Given the description of an element on the screen output the (x, y) to click on. 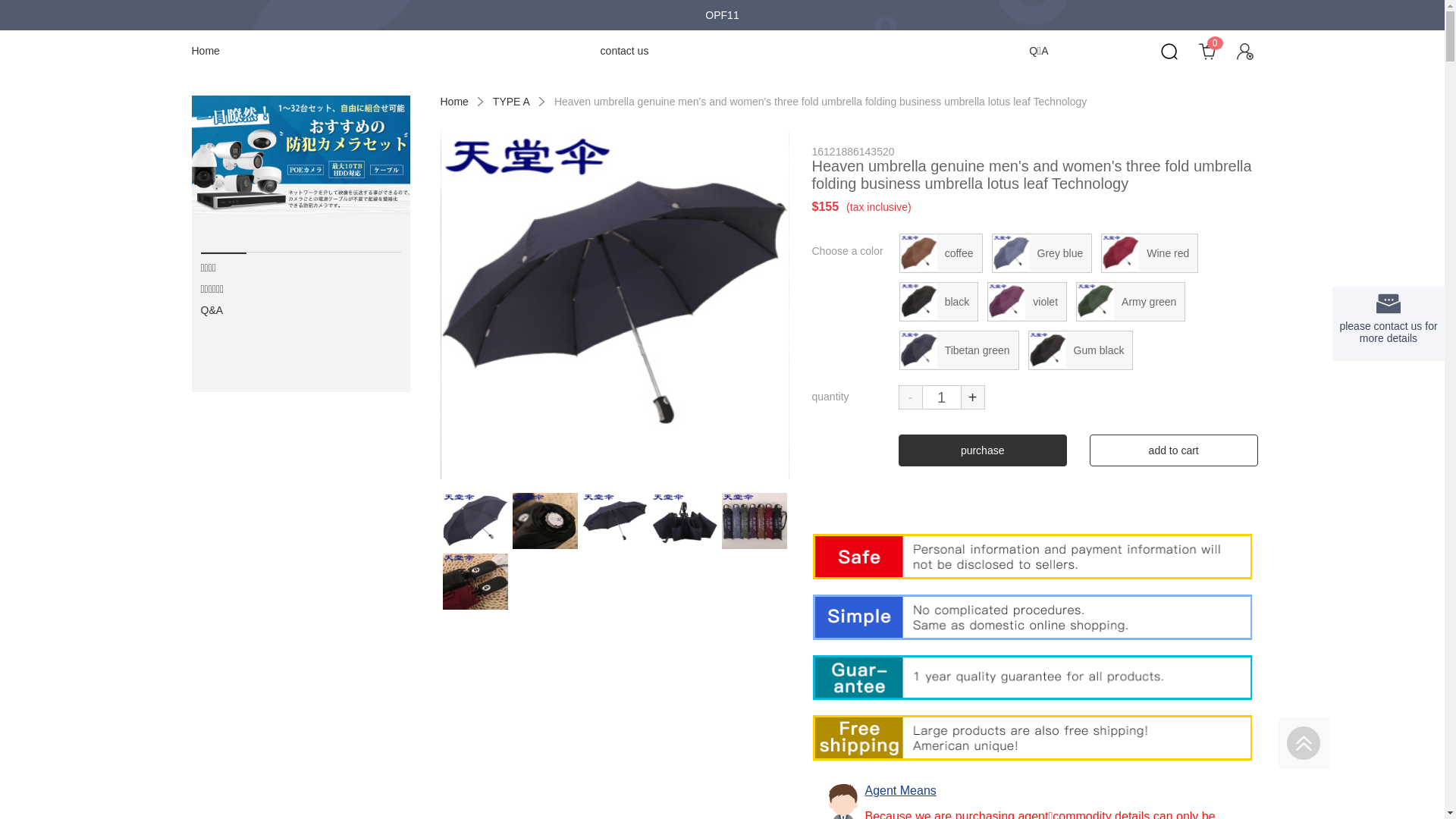
0 Element type: text (1199, 50)
Q&A Element type: text (300, 310)
TYPE A Element type: text (511, 101)
Agent Means Element type: text (899, 790)
Home Element type: text (205, 49)
Home Element type: text (453, 101)
contact us Element type: text (624, 49)
please contact us for more details Element type: text (1388, 323)
